Given the description of an element on the screen output the (x, y) to click on. 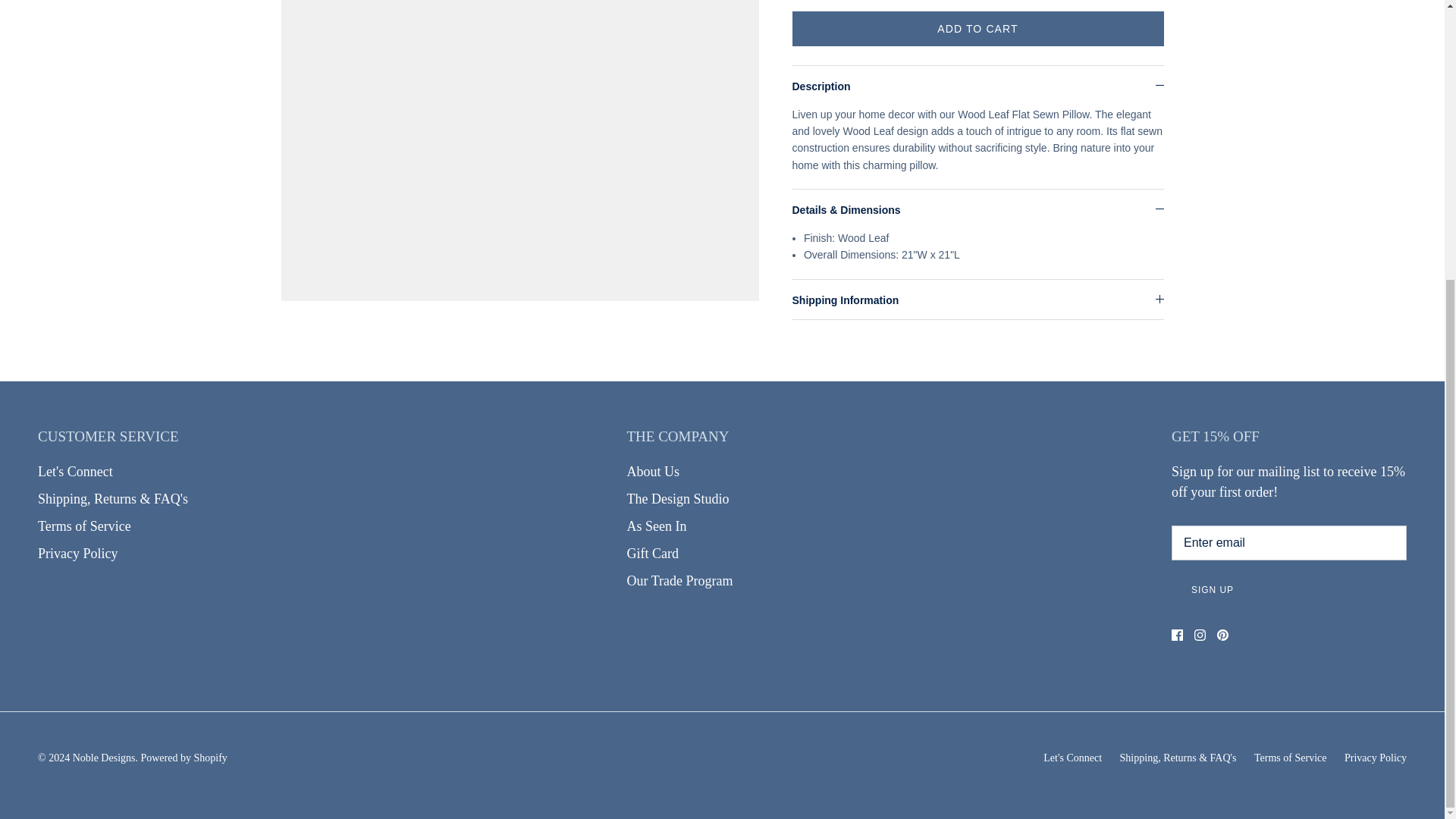
Pinterest (1222, 634)
Instagram (1199, 634)
Facebook (1177, 634)
